Given the description of an element on the screen output the (x, y) to click on. 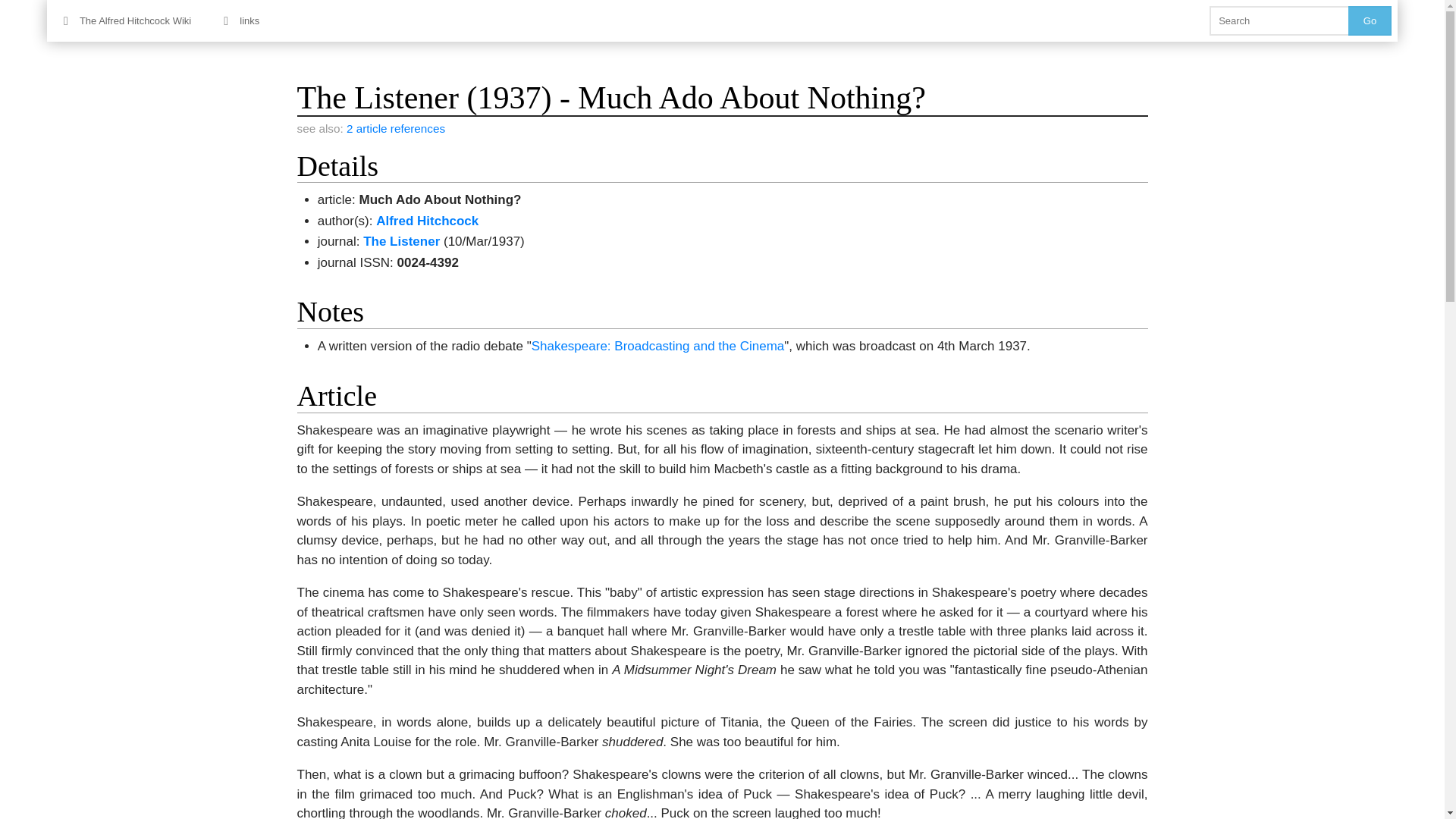
2 article references (395, 128)
Alfred Hitchcock (427, 220)
Go (1369, 20)
view the articles (395, 128)
Alfred Hitchcock (427, 220)
The Listener (400, 241)
Shakespeare: Broadcasting and the Cinema (657, 345)
The Listener (400, 241)
links (240, 20)
The Alfred Hitchcock Wiki (126, 20)
